Given the description of an element on the screen output the (x, y) to click on. 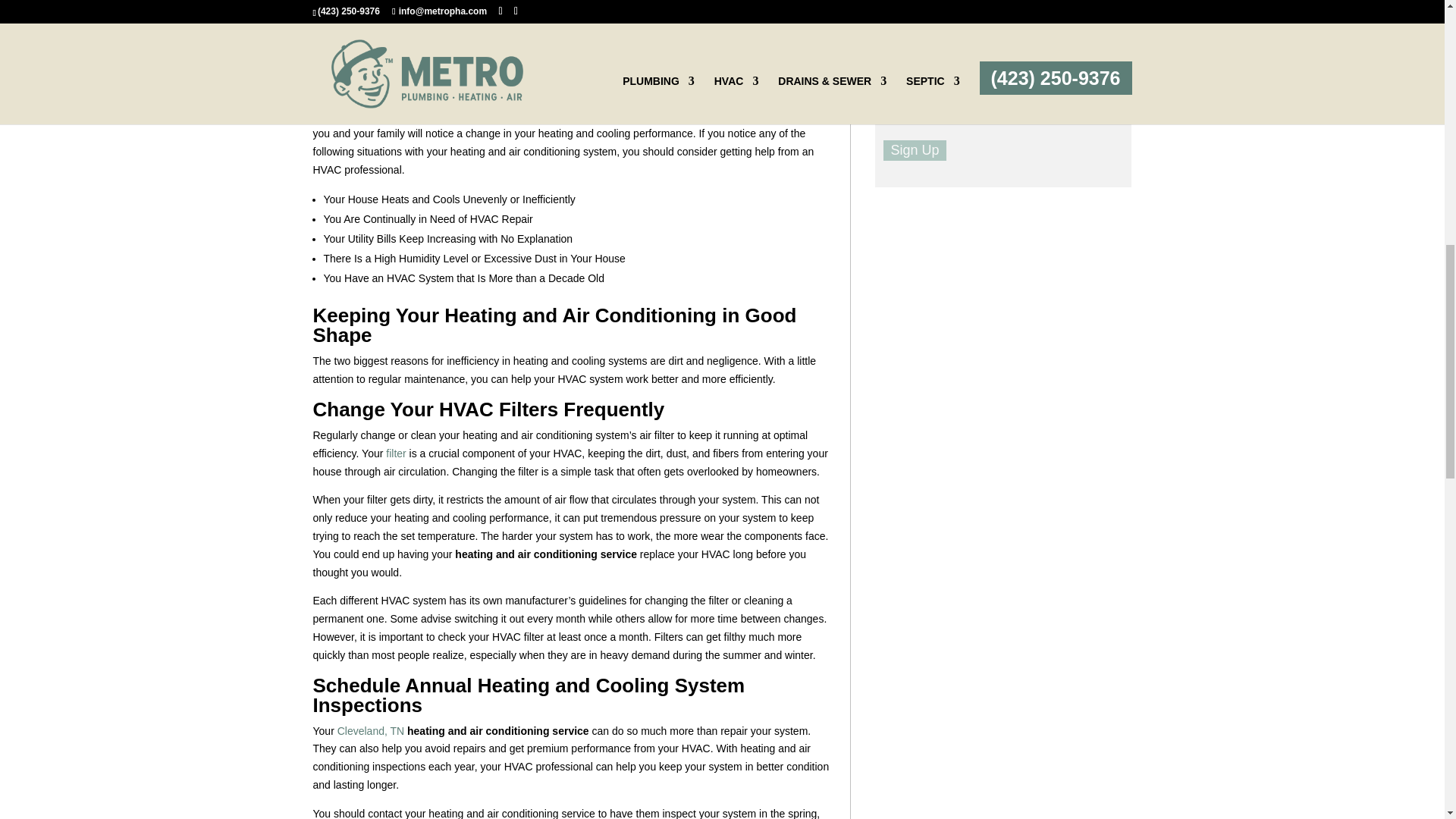
Sign Up (914, 150)
